Given the description of an element on the screen output the (x, y) to click on. 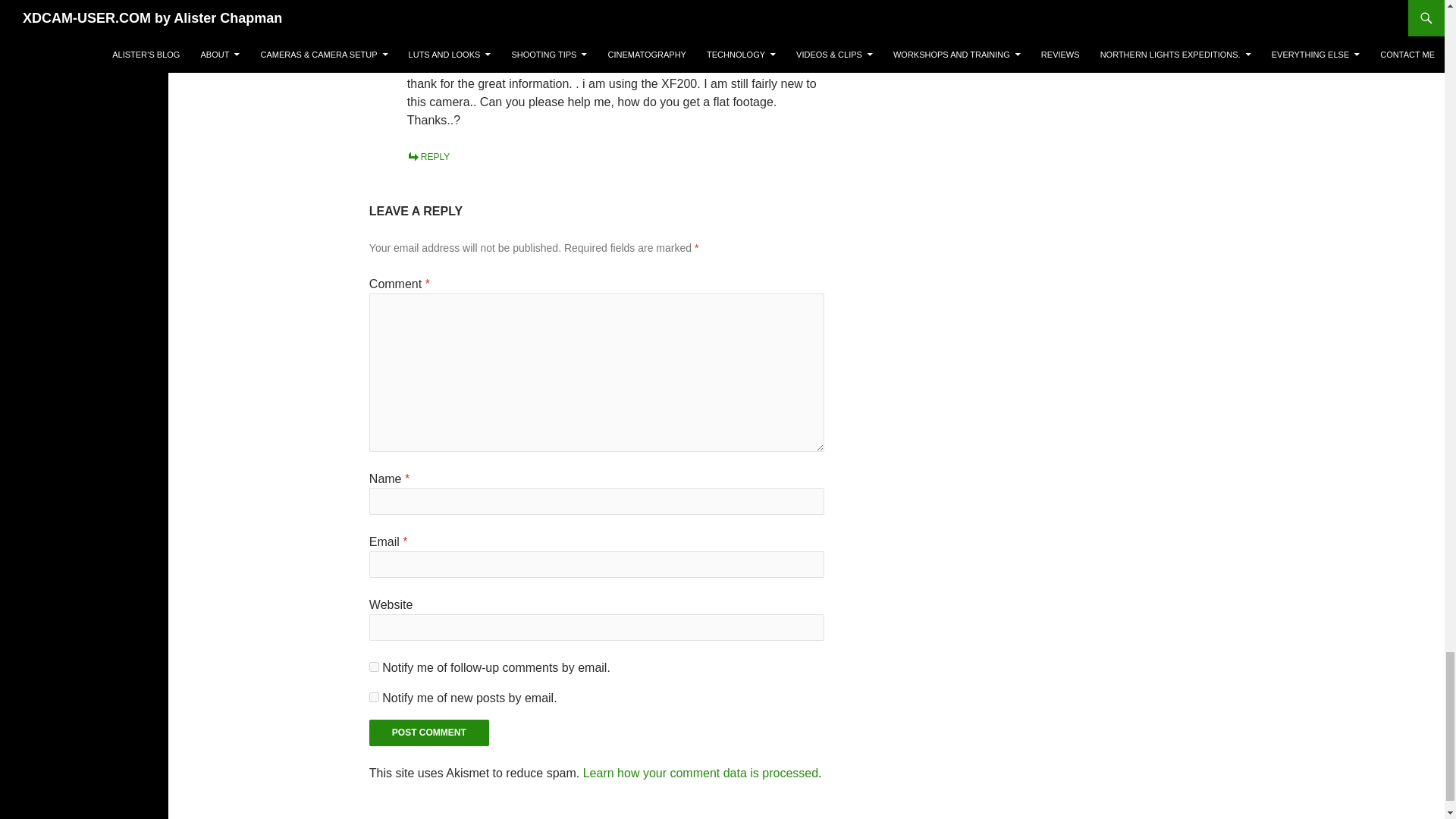
Post Comment (429, 732)
subscribe (373, 696)
subscribe (373, 666)
